Given the description of an element on the screen output the (x, y) to click on. 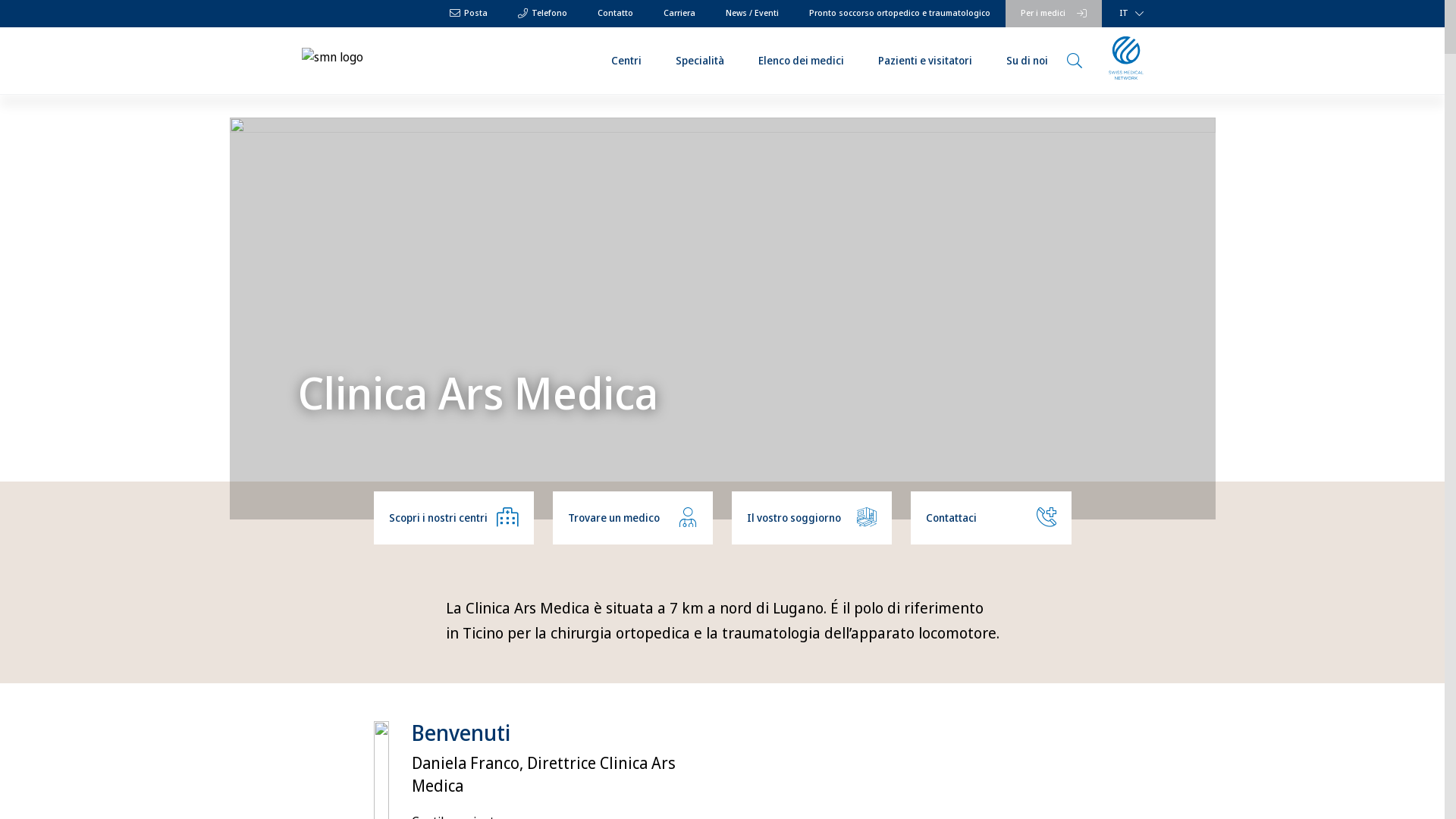
IT Element type: text (1127, 13)
